Given the description of an element on the screen output the (x, y) to click on. 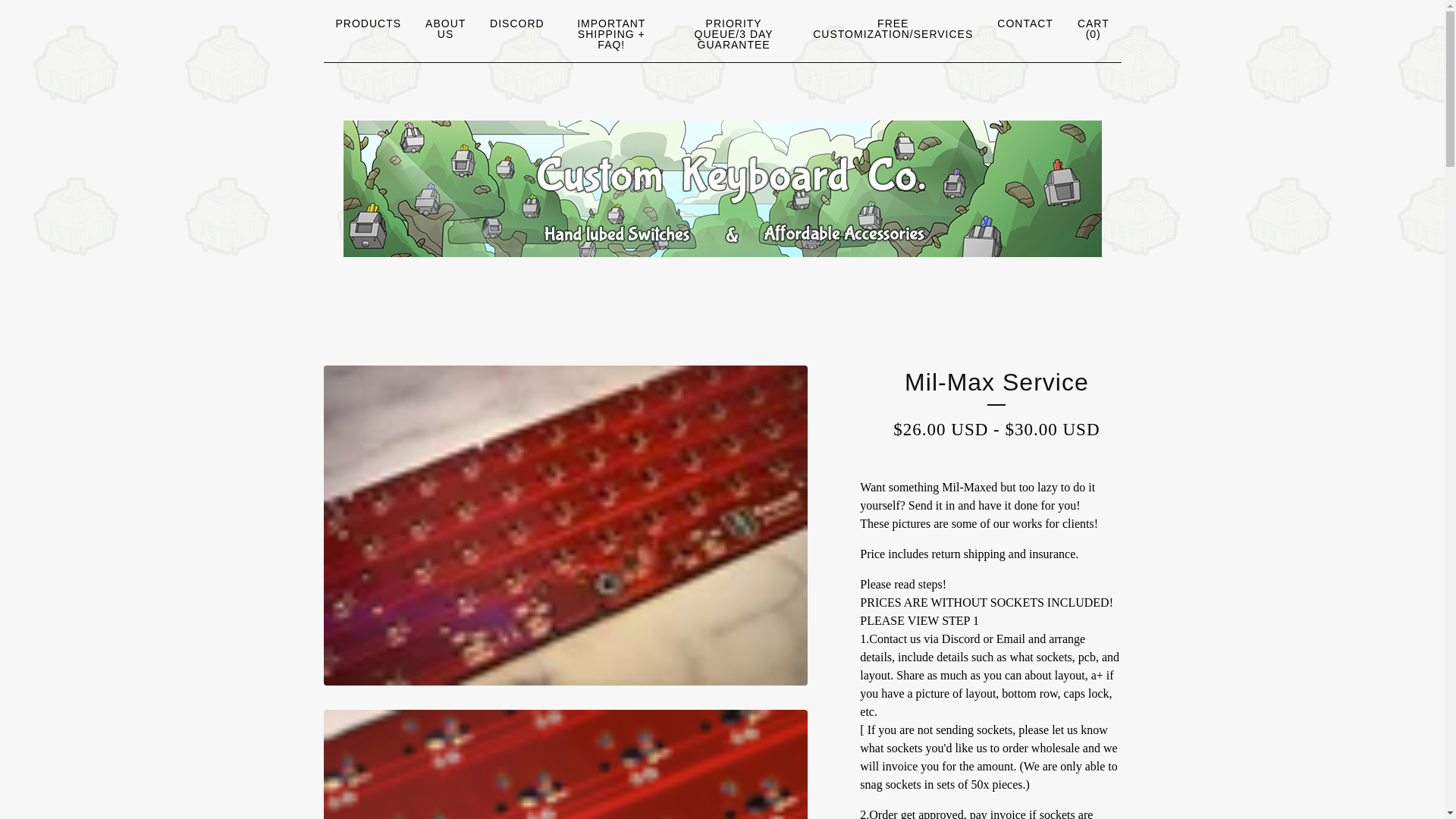
ABOUT US (445, 28)
View Discord (516, 23)
Home (721, 188)
PRODUCTS (368, 23)
CONTACT (1025, 23)
View About Us (445, 28)
DISCORD (516, 23)
